Given the description of an element on the screen output the (x, y) to click on. 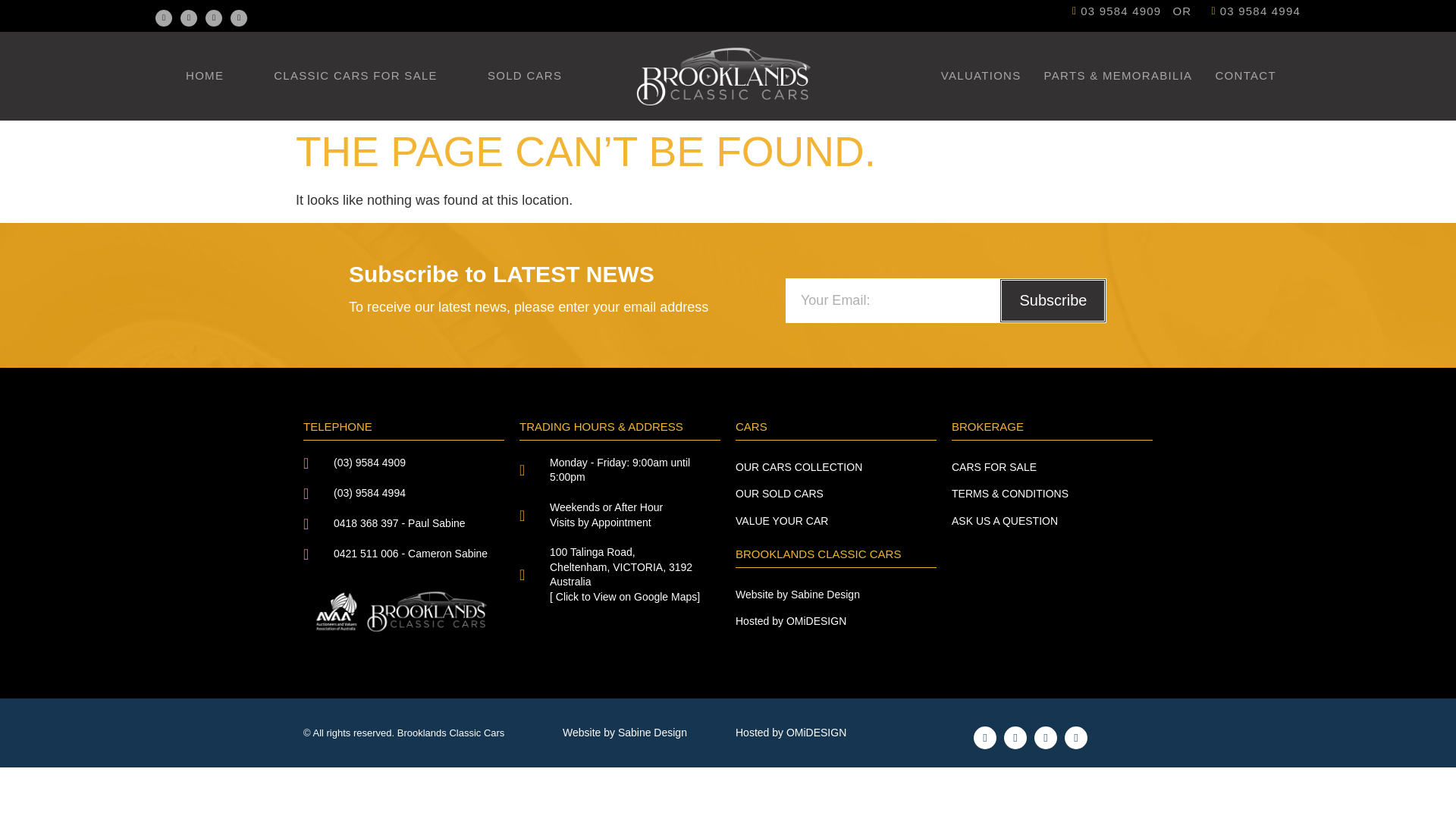
HOME (204, 75)
SOLD CARS (524, 75)
CLASSIC CARS FOR SALE (355, 75)
03 9584 4994 (1251, 11)
CONTACT (1244, 75)
VALUATIONS (980, 75)
03 9584 4909 (1112, 11)
